Given the description of an element on the screen output the (x, y) to click on. 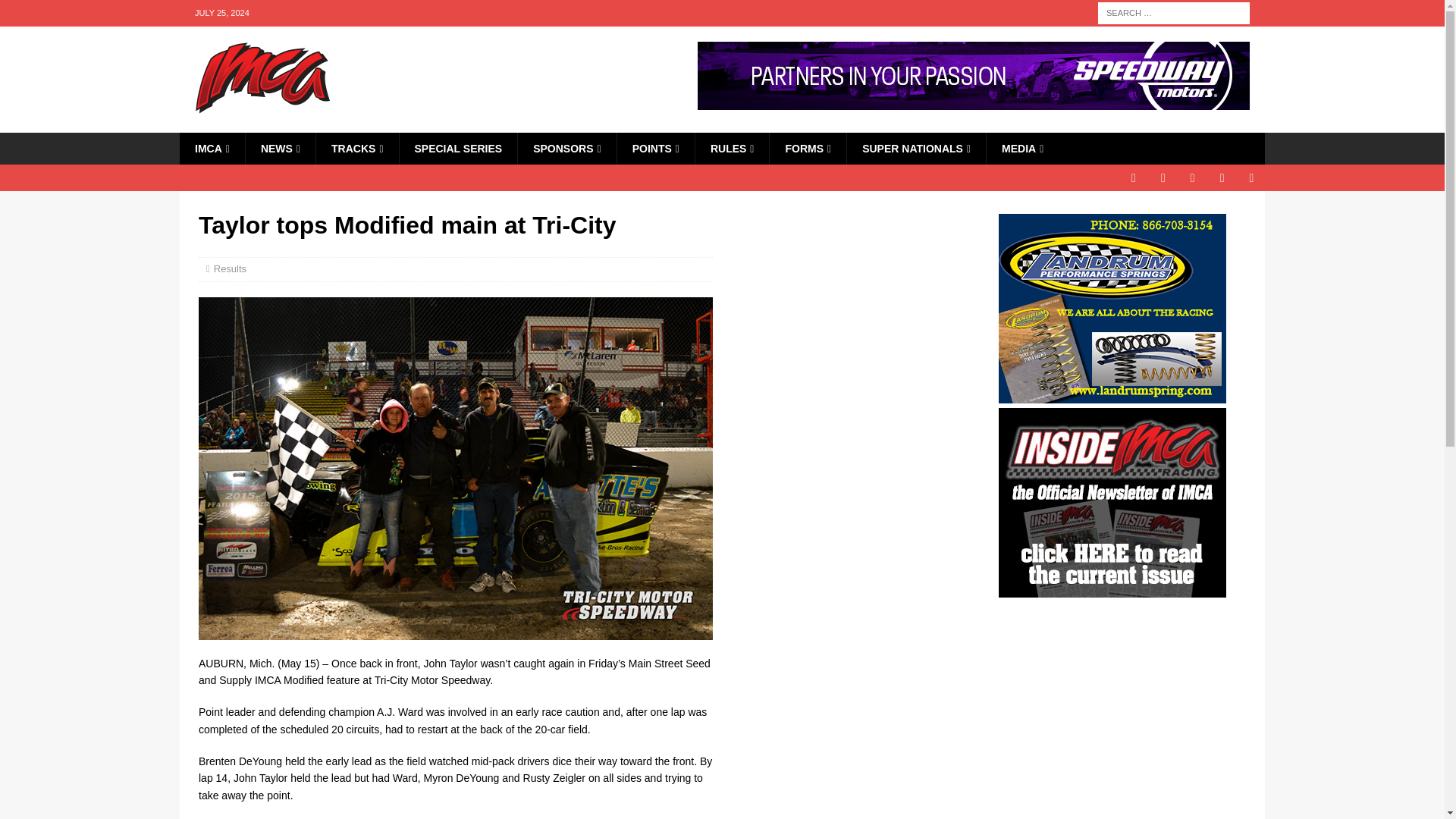
Search (56, 11)
